Given the description of an element on the screen output the (x, y) to click on. 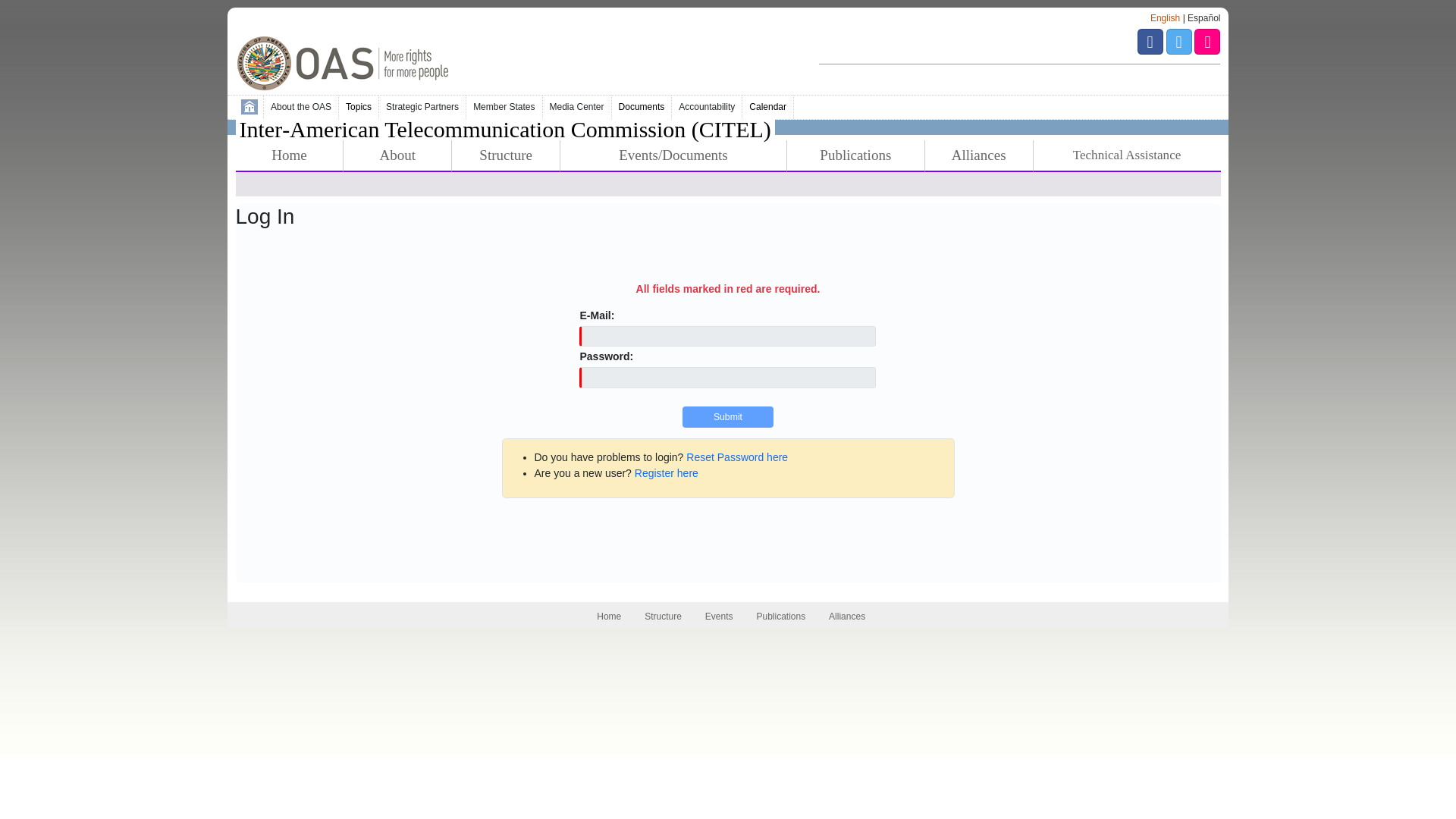
Facebook (1151, 47)
About the OAS (301, 106)
Topics (358, 106)
Flickr (1206, 47)
Twitter (1180, 47)
English (1164, 18)
Submit (727, 416)
